Given the description of an element on the screen output the (x, y) to click on. 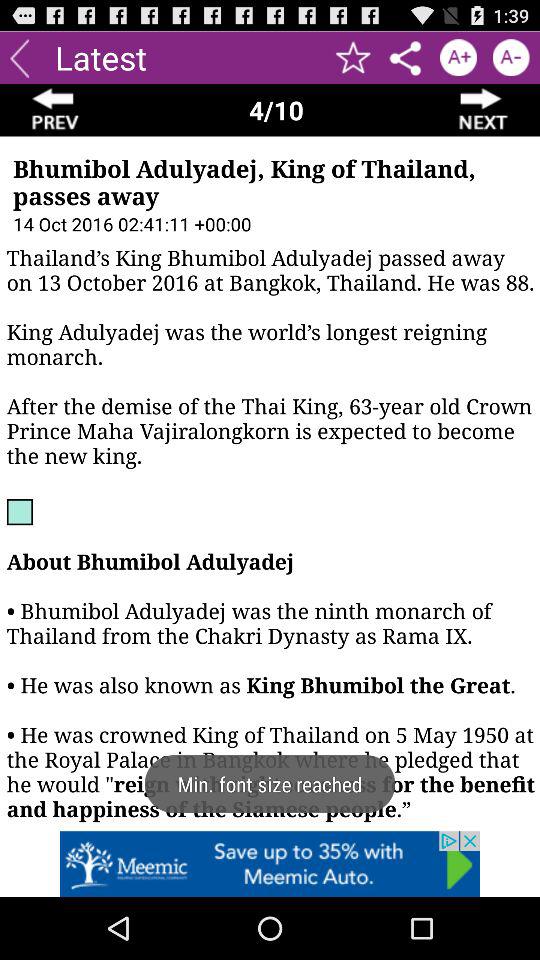
next arrow (483, 110)
